Given the description of an element on the screen output the (x, y) to click on. 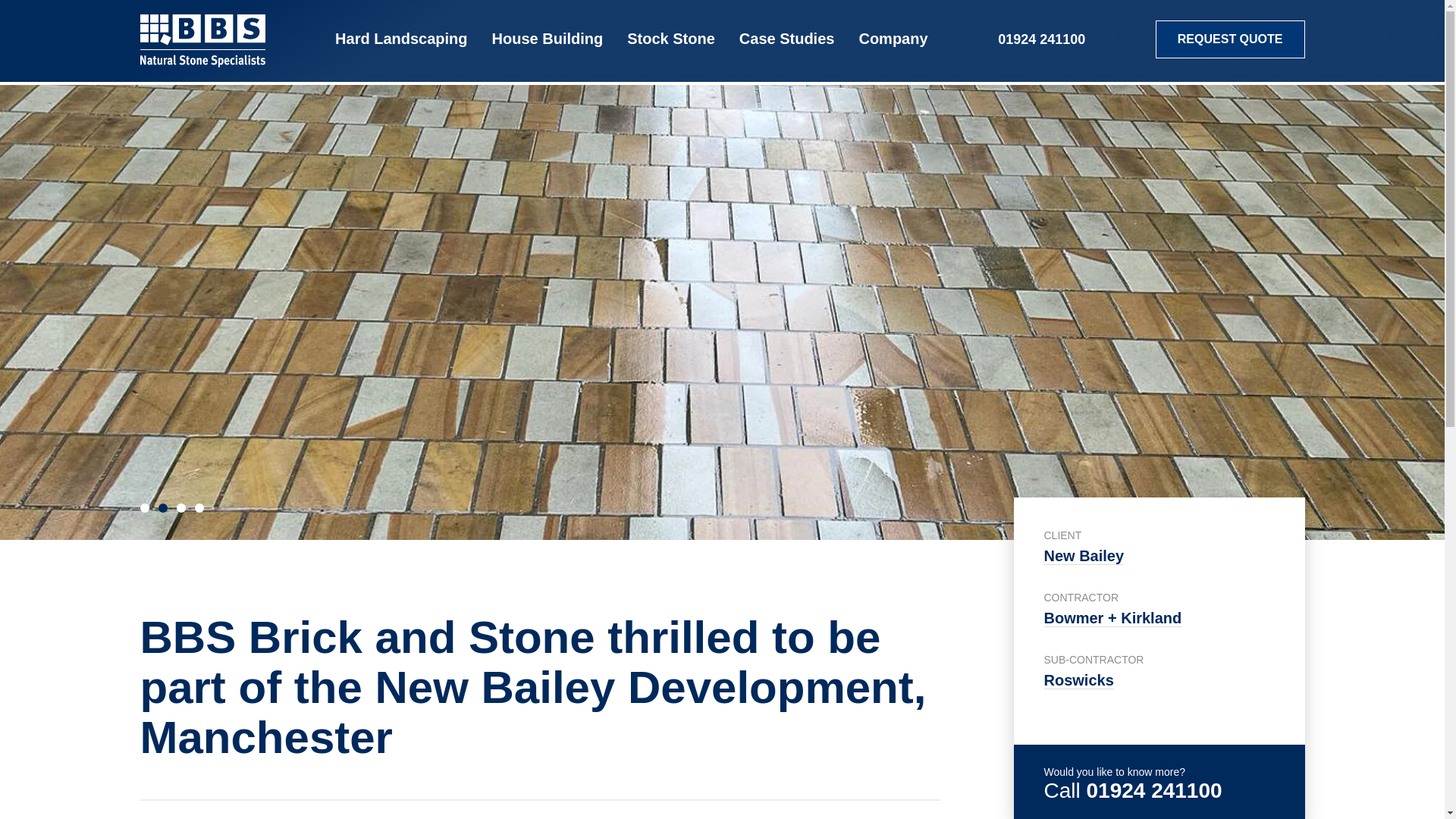
REQUEST QUOTE (670, 40)
01924 241100 (400, 40)
